Given the description of an element on the screen output the (x, y) to click on. 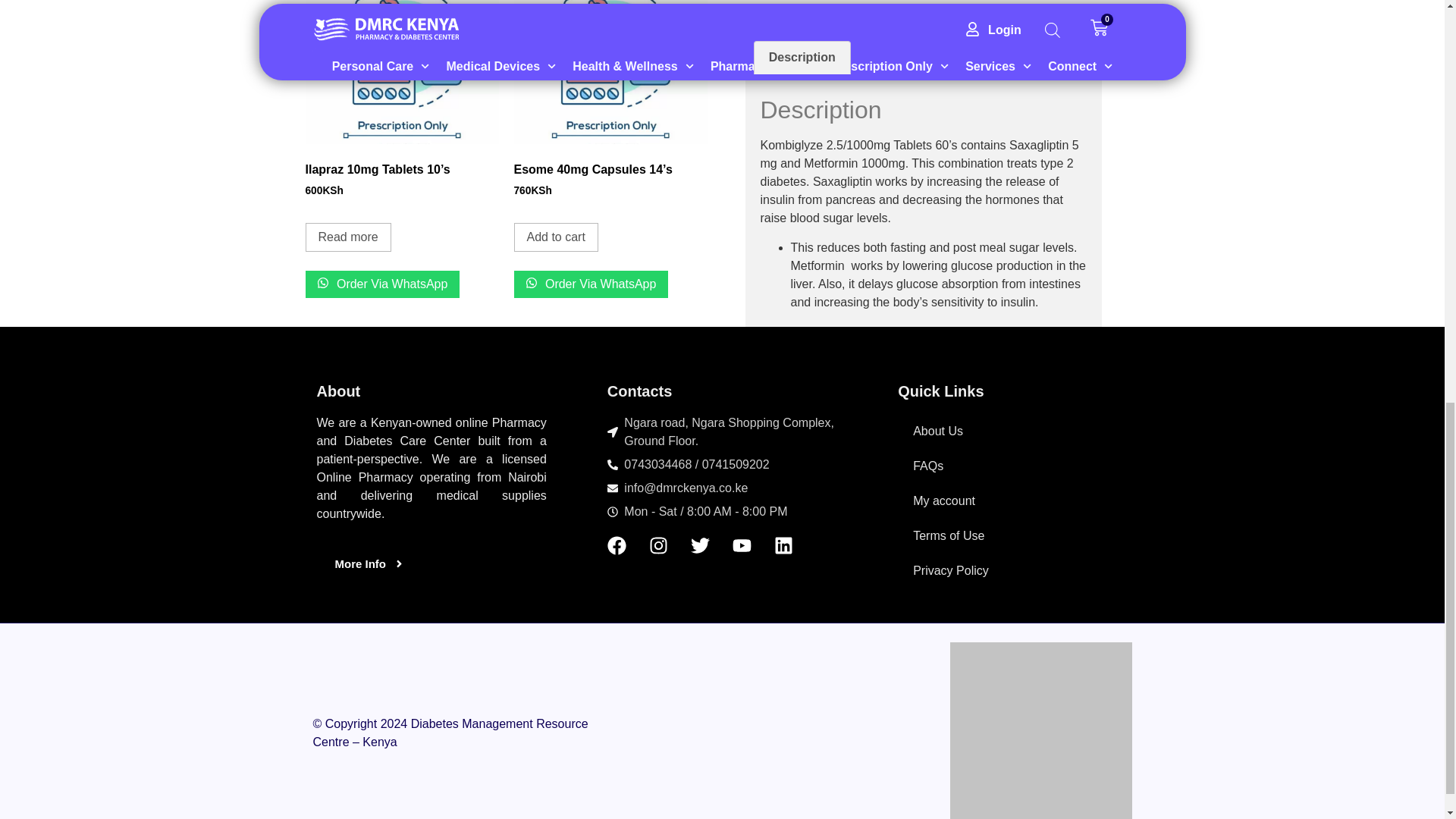
Complete order on WhatsApp to buy Ilapraz 10mg Tablets 10's (382, 284)
Complete order on WhatsApp to buy Esome 40mg Capsules 14's (590, 284)
